Given the description of an element on the screen output the (x, y) to click on. 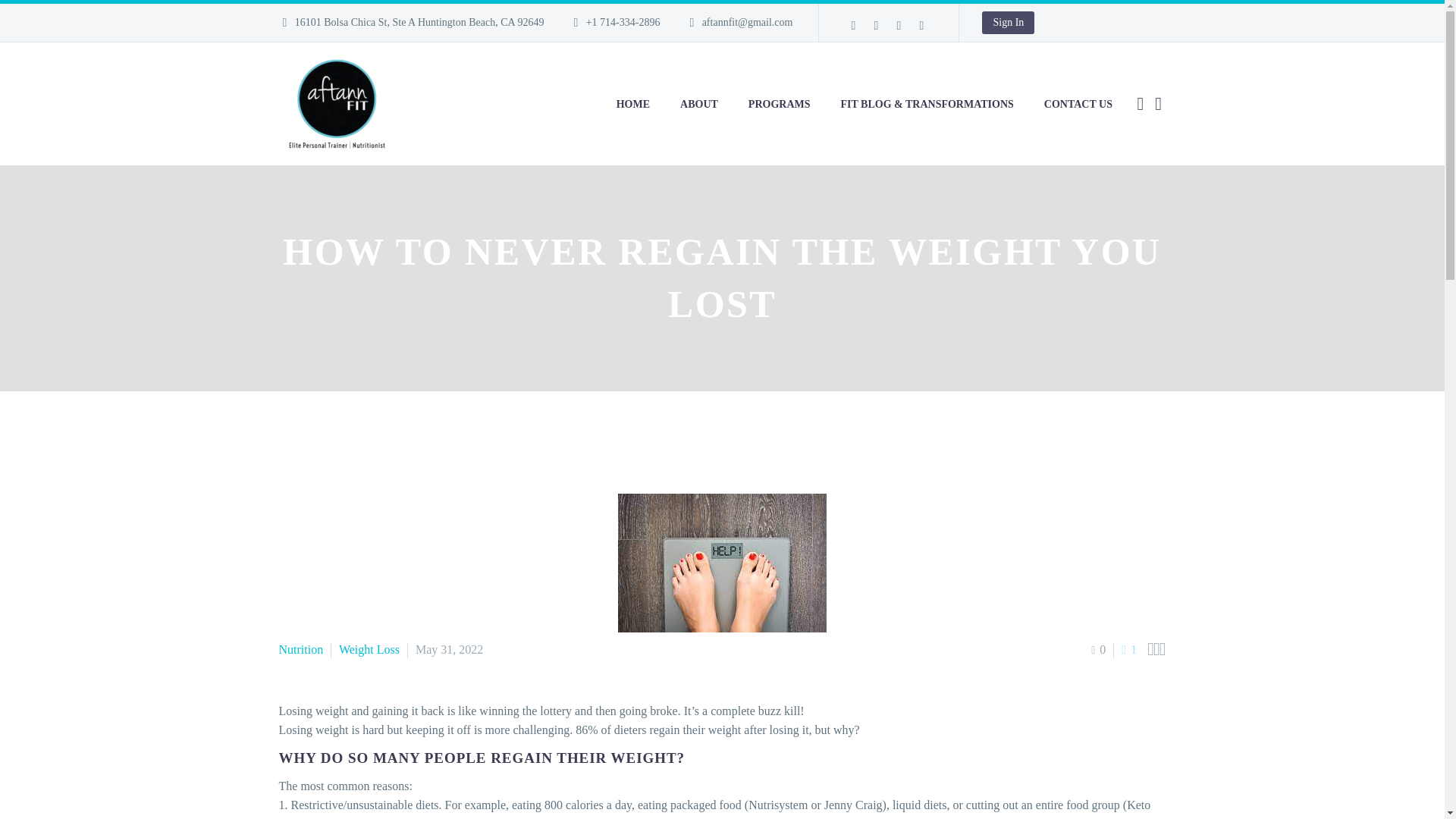
Instagram (875, 25)
PROGRAMS (779, 103)
YouTube (921, 25)
Weight Loss (368, 649)
Sign In (1007, 22)
Nutrition (301, 649)
View all posts in Nutrition (301, 649)
Facebook (852, 25)
ABOUT (699, 103)
CONTACT US (1077, 103)
